Given the description of an element on the screen output the (x, y) to click on. 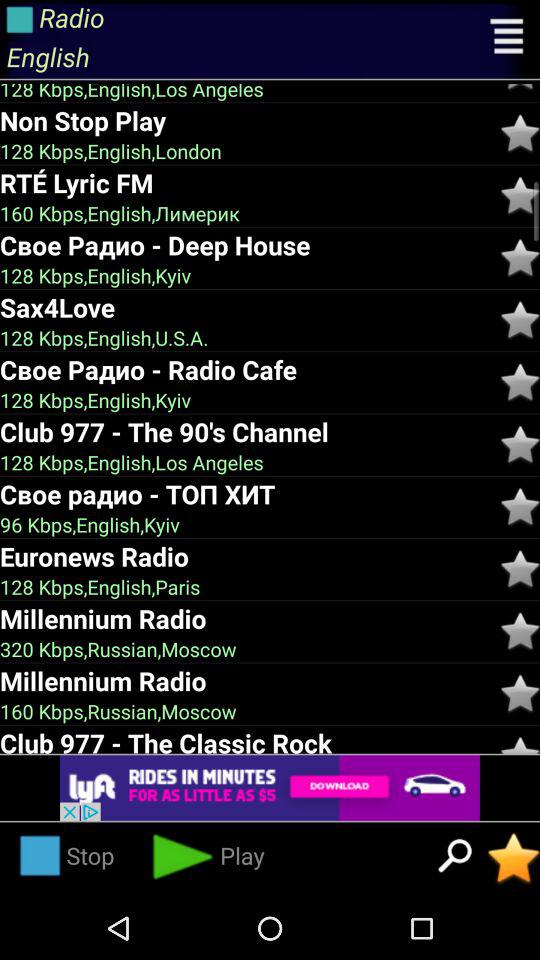
click to the rating (520, 569)
